Given the description of an element on the screen output the (x, y) to click on. 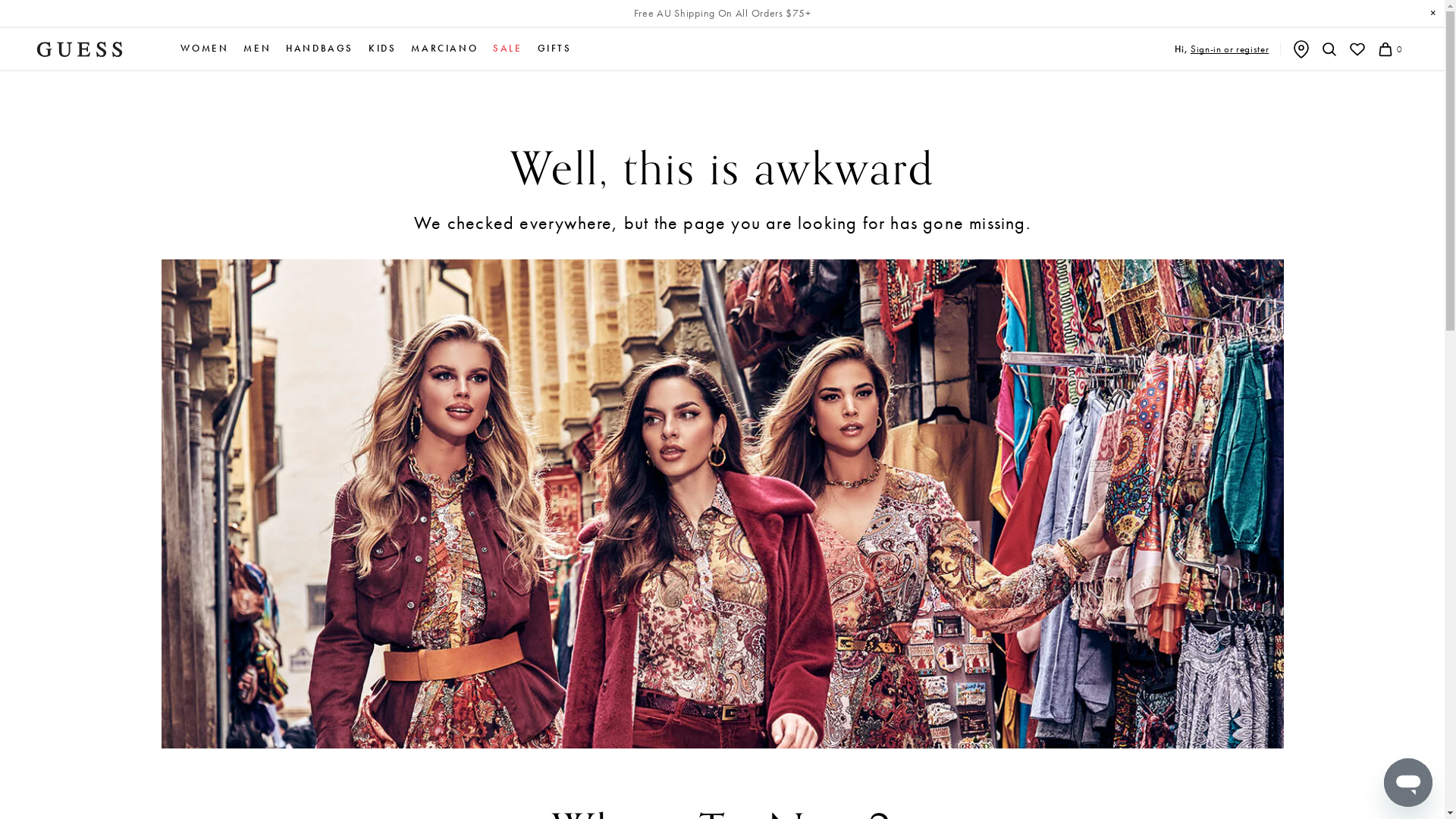
Submit Element type: text (15, 8)
Free AU Shipping On All Orders $75+ Element type: text (722, 13)
HANDBAGS Element type: text (319, 48)
SALE Element type: text (506, 48)
GIFTS Element type: text (554, 48)
Sign-in or register Element type: text (1229, 48)
KIDS Element type: text (381, 48)
MARCIANO Element type: text (444, 48)
WOMEN Element type: text (204, 48)
MEN Element type: text (256, 48)
Button to launch messaging window Element type: hover (1407, 782)
0 Element type: text (1389, 49)
